Given the description of an element on the screen output the (x, y) to click on. 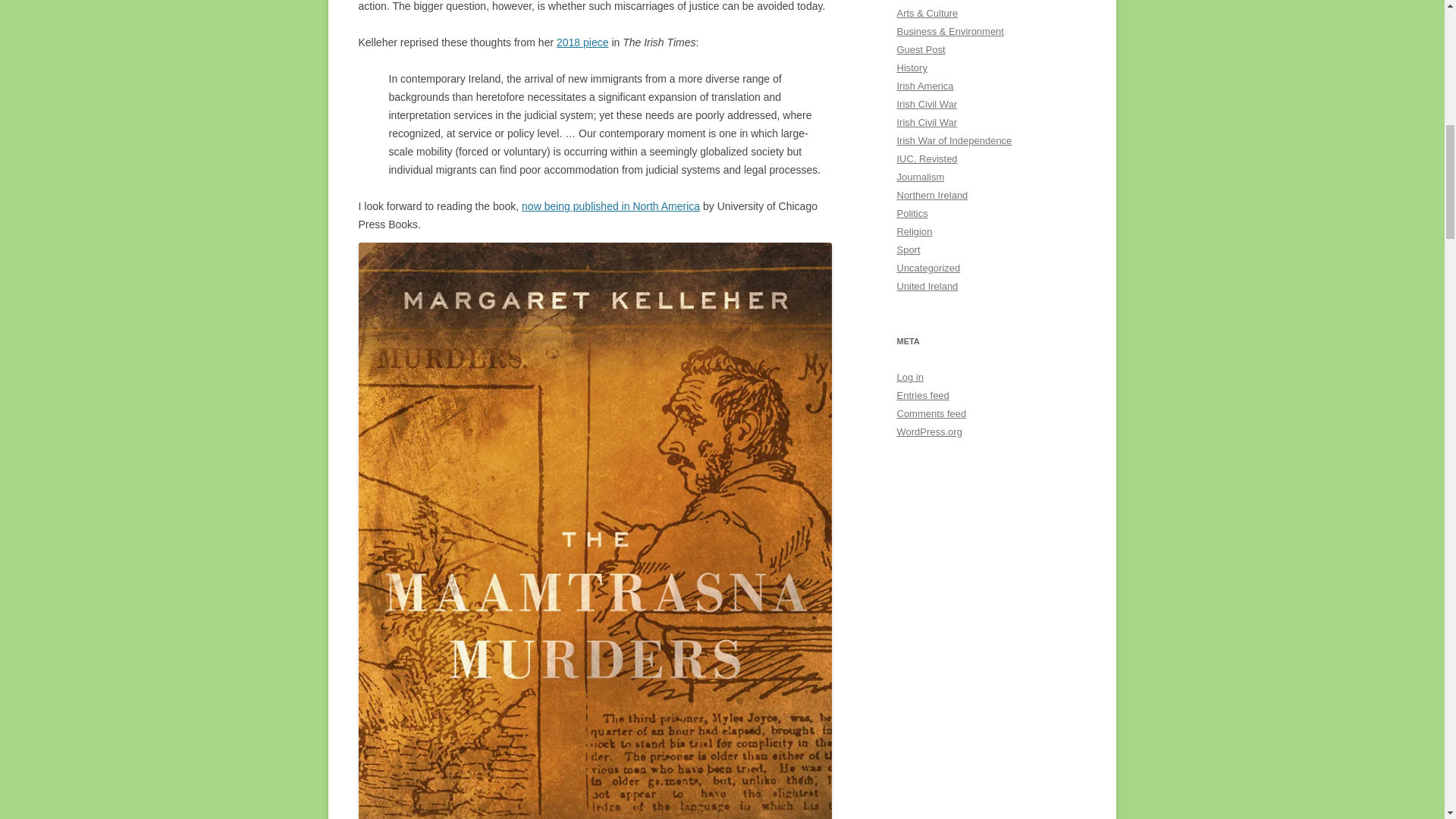
now being published in North America (610, 205)
2018 piece (582, 42)
